Given the description of an element on the screen output the (x, y) to click on. 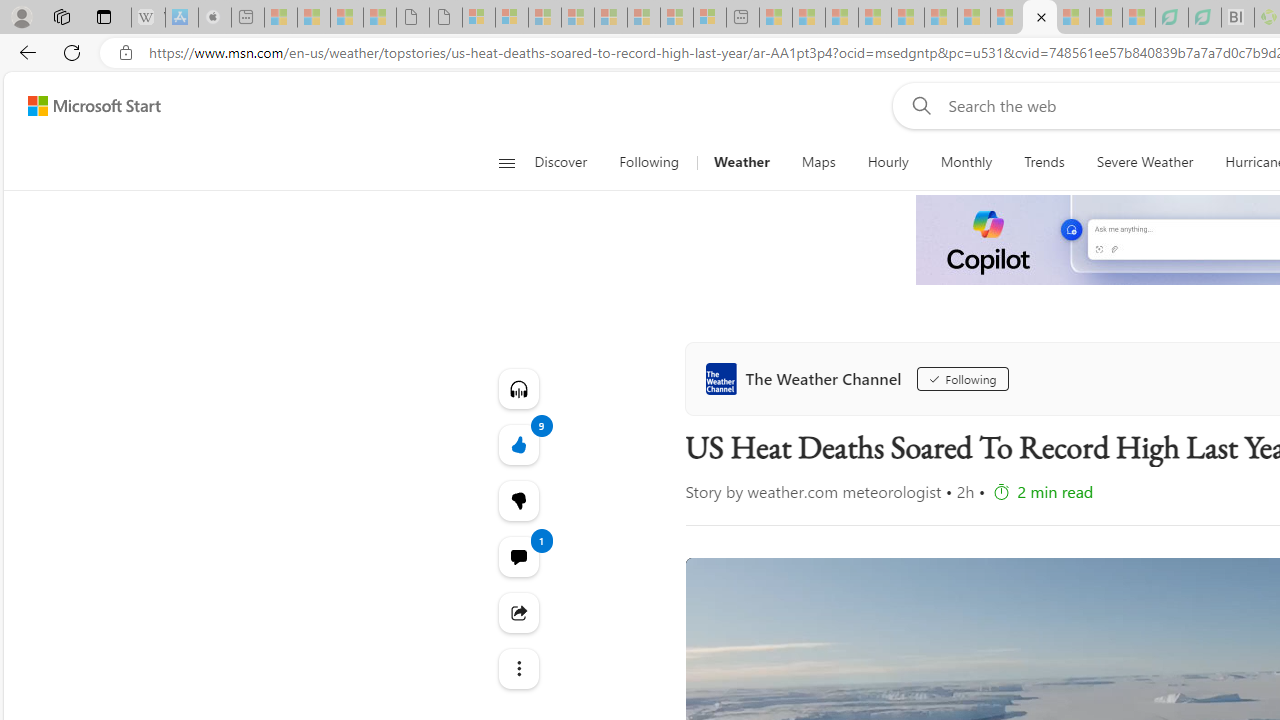
Class: button-glyph (505, 162)
Maps (818, 162)
Trends (1044, 162)
Maps (818, 162)
Skip to footer (82, 105)
Weather (741, 162)
Food and Drink - MSN - Sleeping (874, 17)
Monthly (966, 162)
Trends (1044, 162)
